Given the description of an element on the screen output the (x, y) to click on. 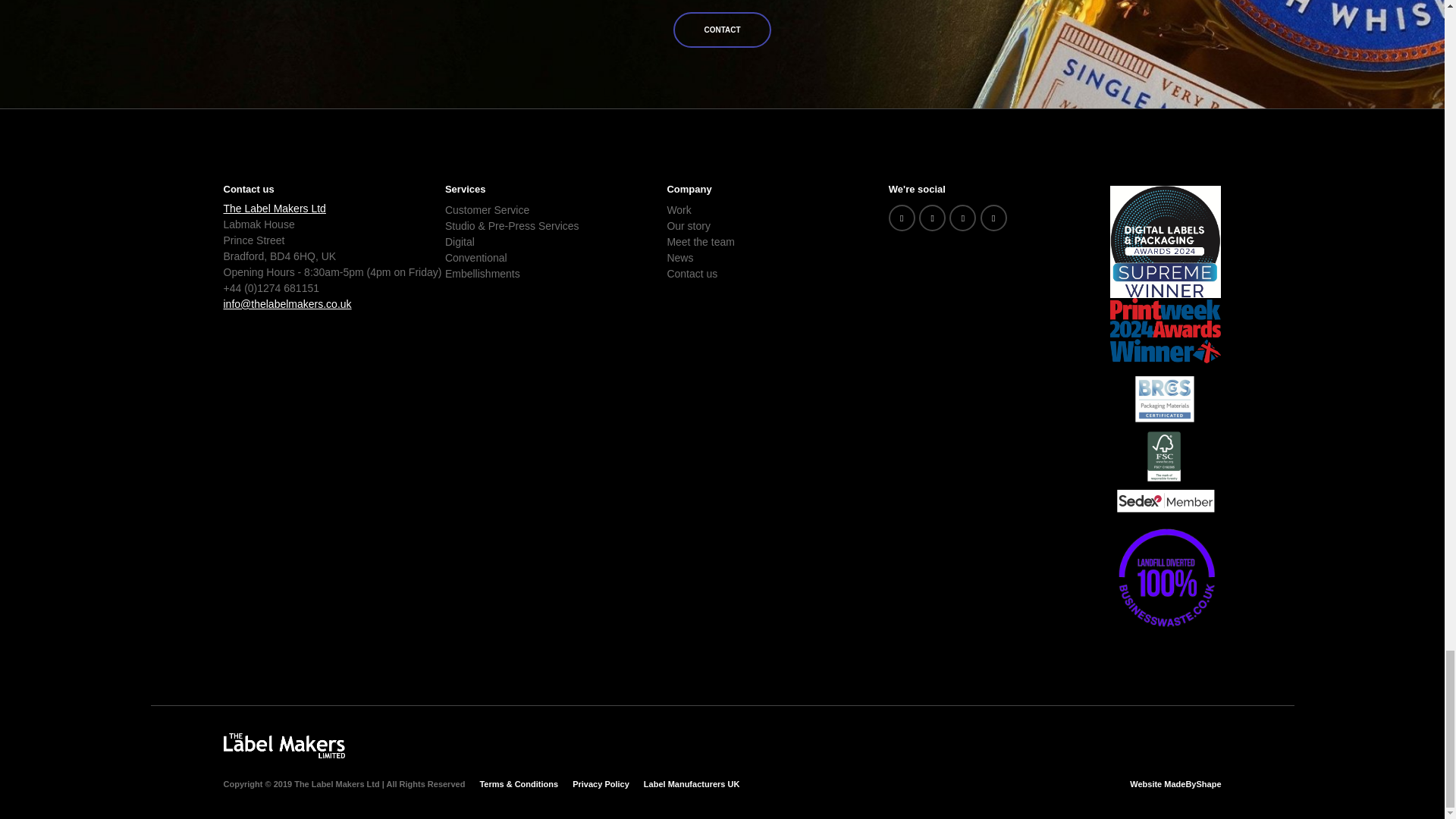
CONTACT (721, 29)
Work (700, 210)
Embellishments (512, 273)
Our story (700, 226)
News (700, 258)
Digital (512, 242)
The Label Makers Ltd (273, 208)
Conventional (512, 258)
Contact us (700, 273)
Meet the team (700, 242)
Customer Service (512, 210)
